Given the description of an element on the screen output the (x, y) to click on. 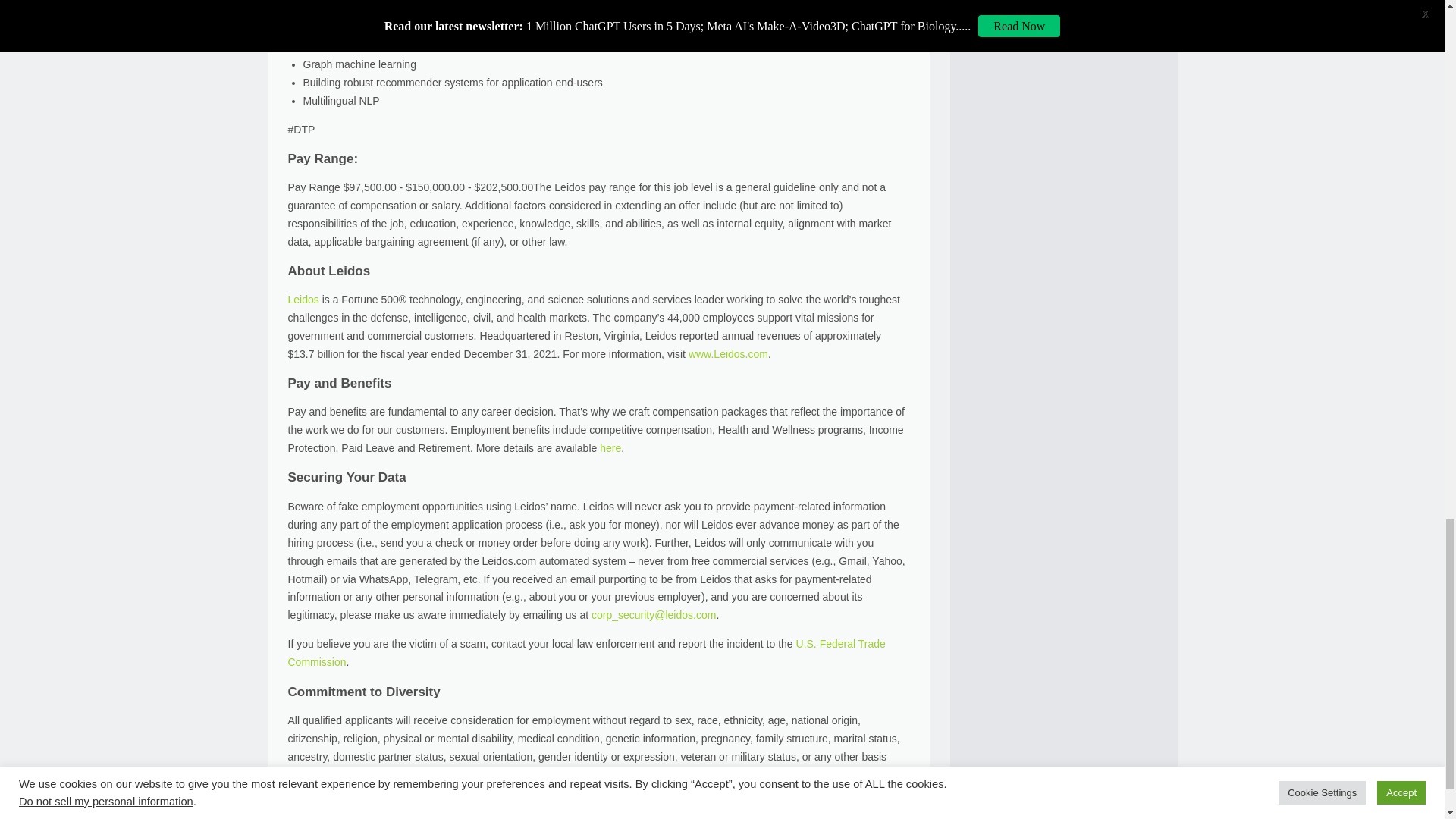
U.S. Federal Trade Commission (586, 653)
www.Leidos.com (728, 354)
here (610, 448)
Leidos  (304, 299)
